Given the description of an element on the screen output the (x, y) to click on. 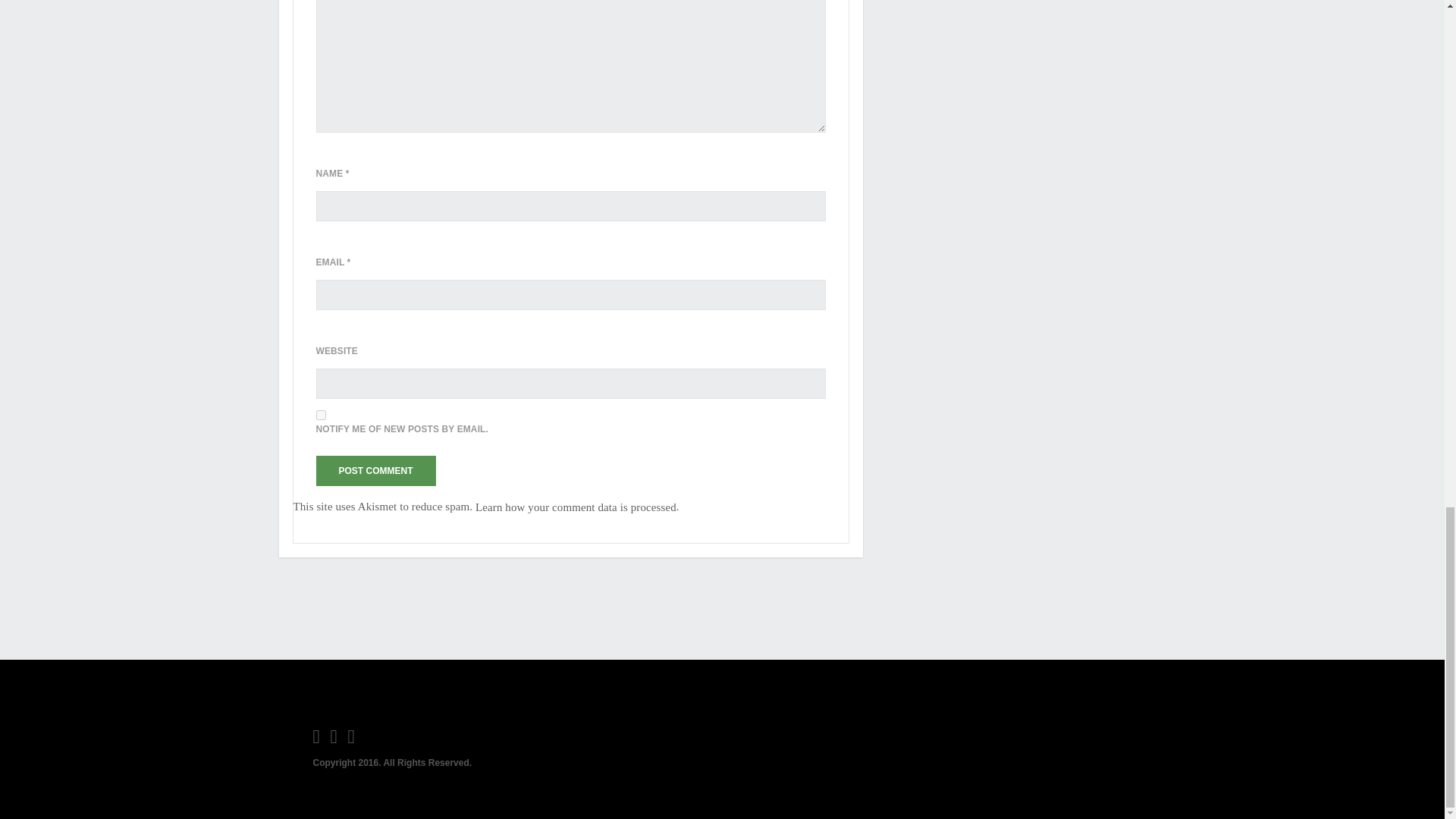
subscribe (319, 415)
Post Comment (375, 470)
Learn how your comment data is processed (576, 506)
Post Comment (375, 470)
